Given the description of an element on the screen output the (x, y) to click on. 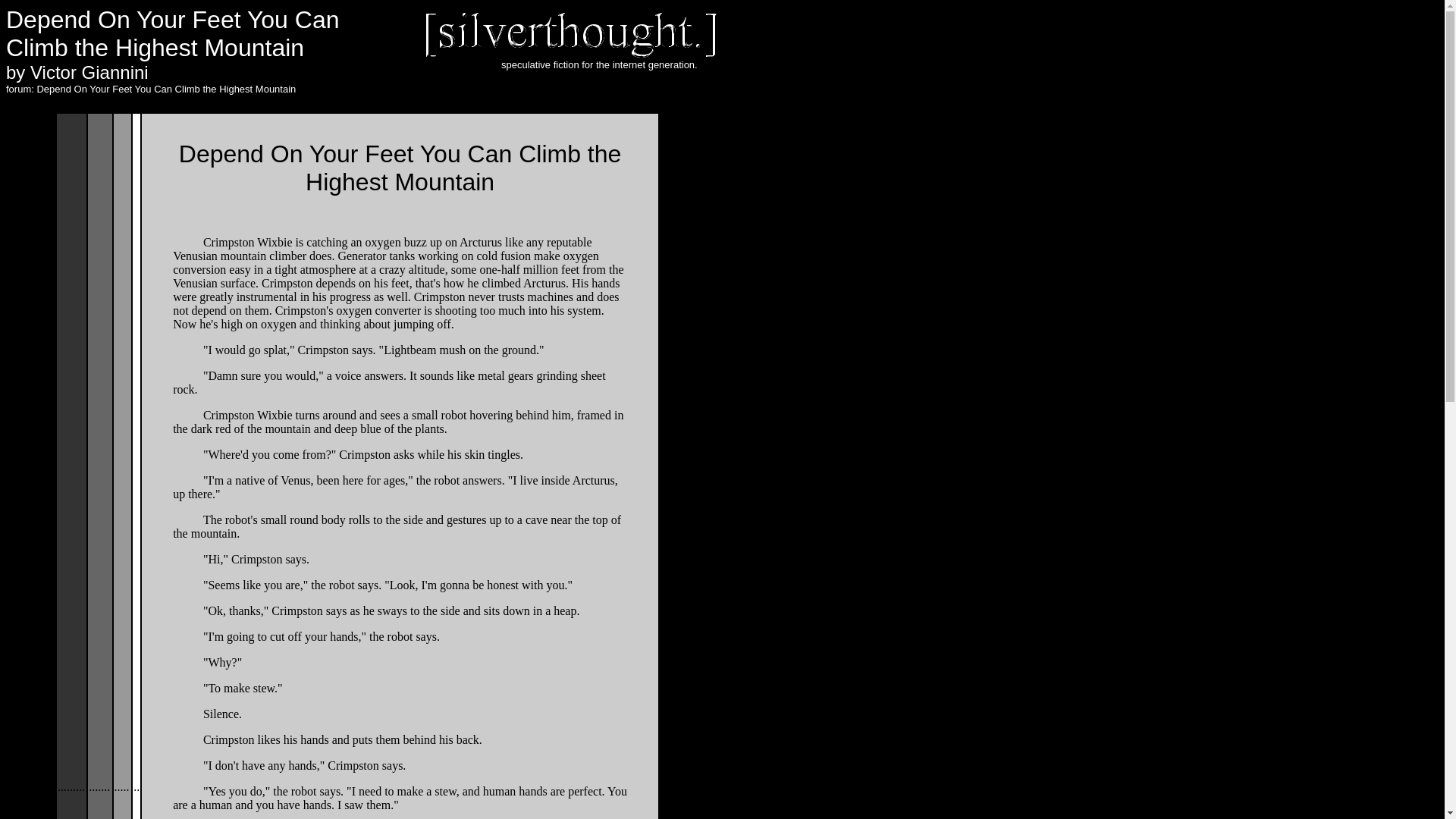
Depend On Your Feet You Can Climb the Highest Mountain (165, 89)
rashard mendenhall (84, 508)
